Given the description of an element on the screen output the (x, y) to click on. 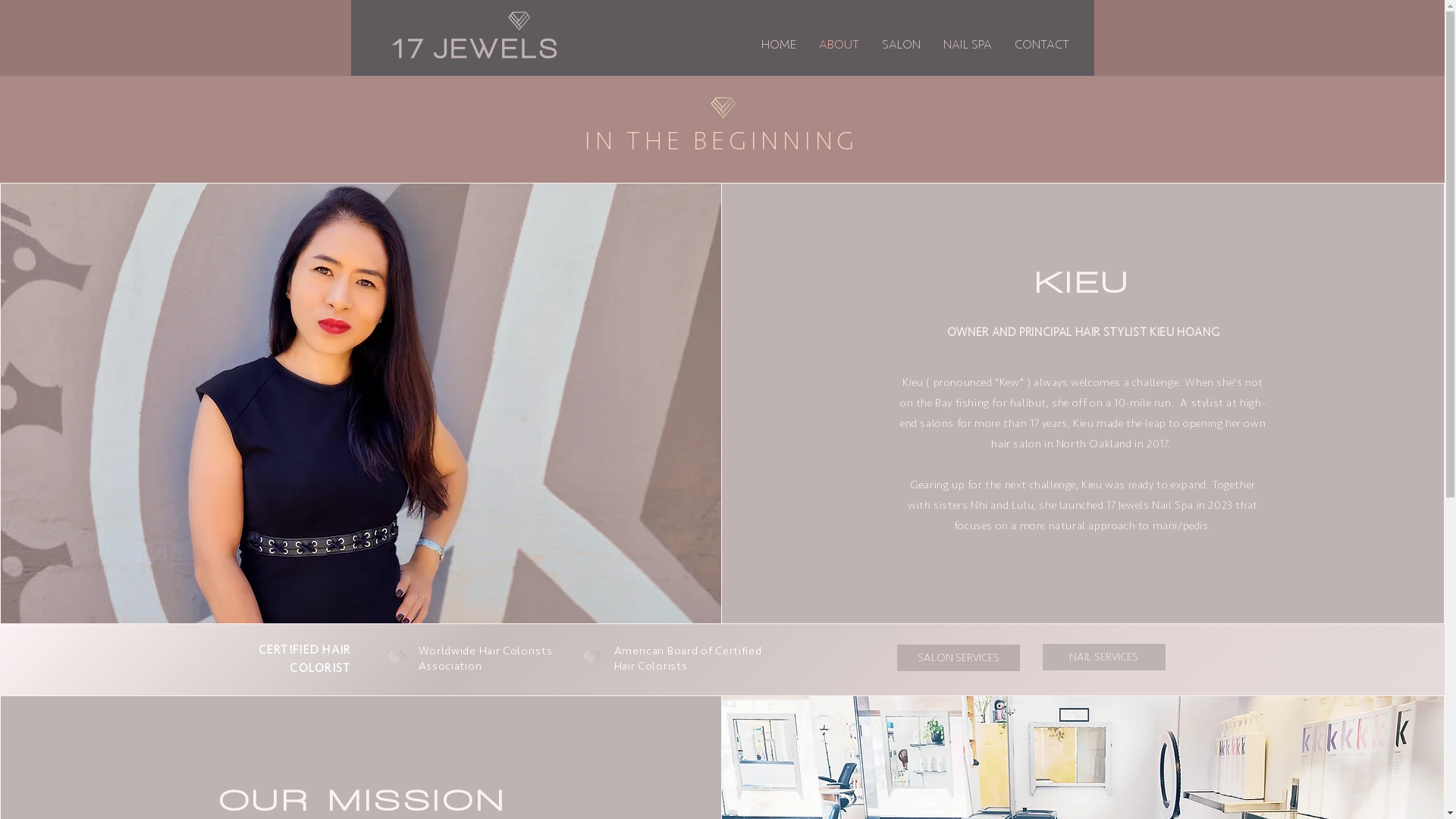
CONTACT Element type: text (1040, 44)
SALON SERVICES Element type: text (957, 657)
SALON Element type: text (900, 44)
NAIL SERVICES Element type: text (1102, 656)
HOME Element type: text (777, 44)
NAIL SPA Element type: text (966, 44)
17 JEWELS HOME Element type: hover (475, 35)
ABOUT Element type: text (837, 44)
